Given the description of an element on the screen output the (x, y) to click on. 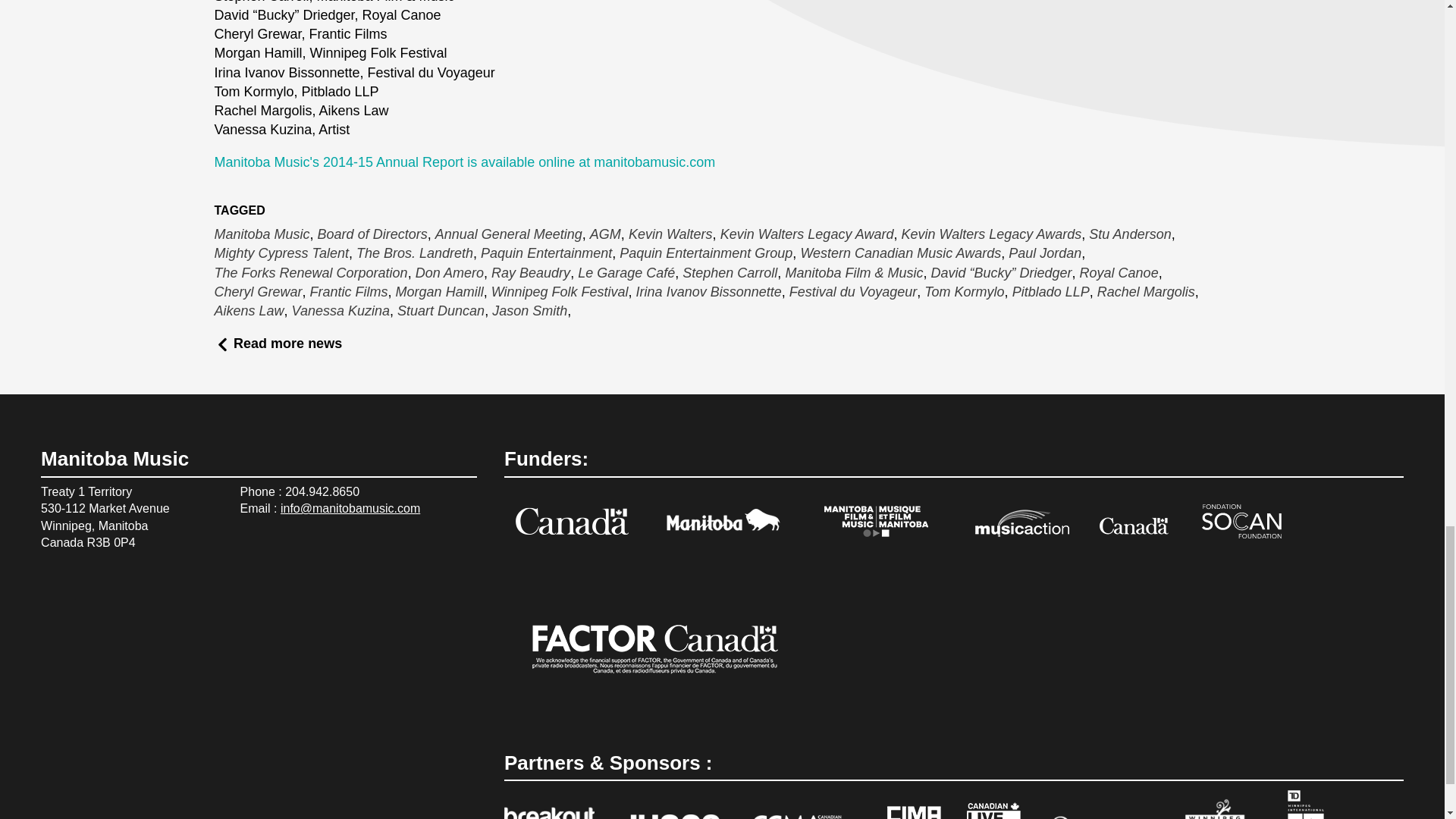
Follow us on Instagram (52, 617)
Follow our RSS feed (89, 617)
Government of Canada (571, 524)
Subscribe on YouTube (161, 584)
Follow us on Spotify (52, 584)
Follow us on Twitter (125, 584)
Contact Us via email (125, 617)
Like us on Facebook (89, 584)
